Given the description of an element on the screen output the (x, y) to click on. 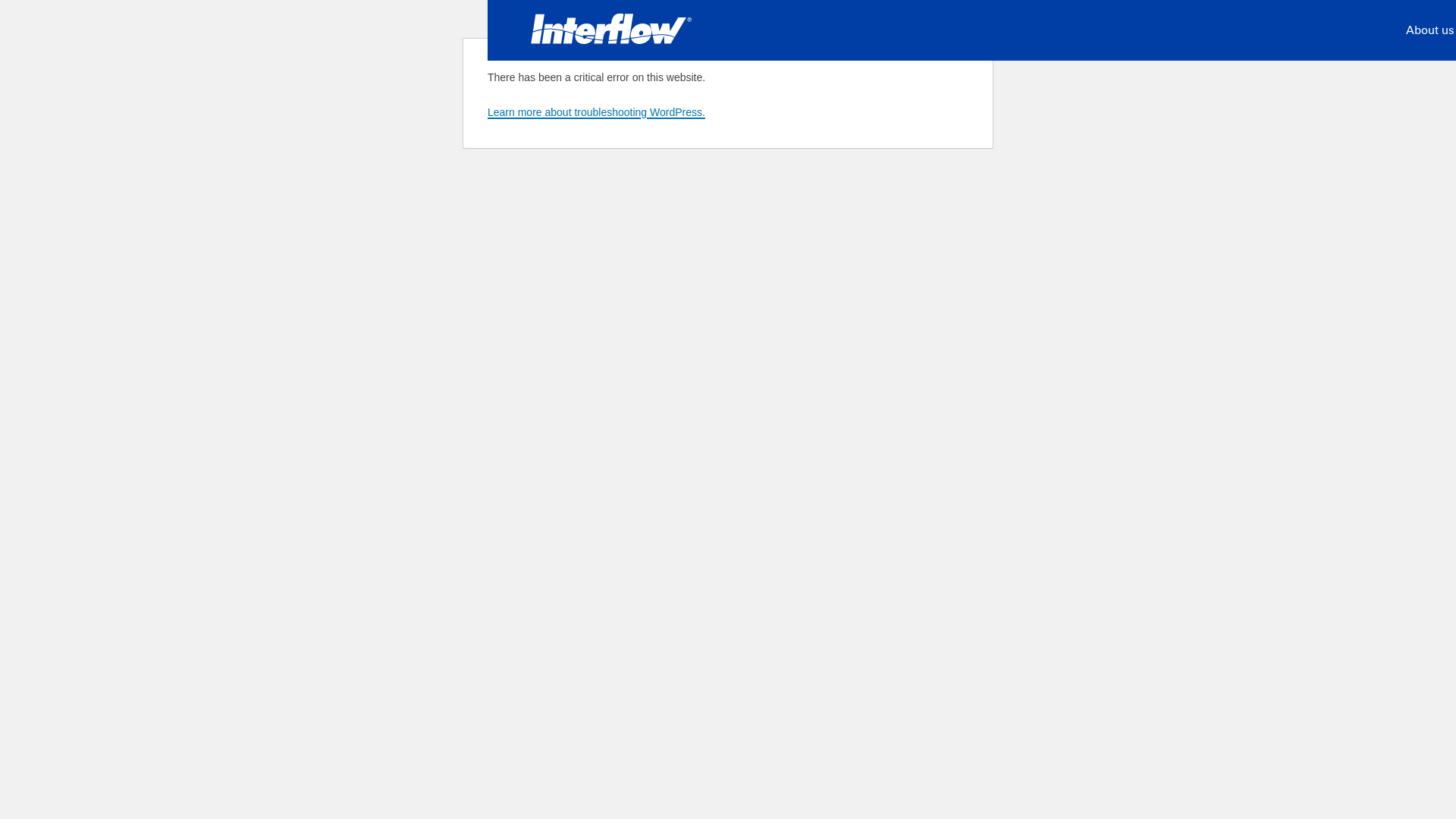
Learn more about troubleshooting WordPress. Element type: text (596, 112)
About us Element type: text (1429, 30)
